Given the description of an element on the screen output the (x, y) to click on. 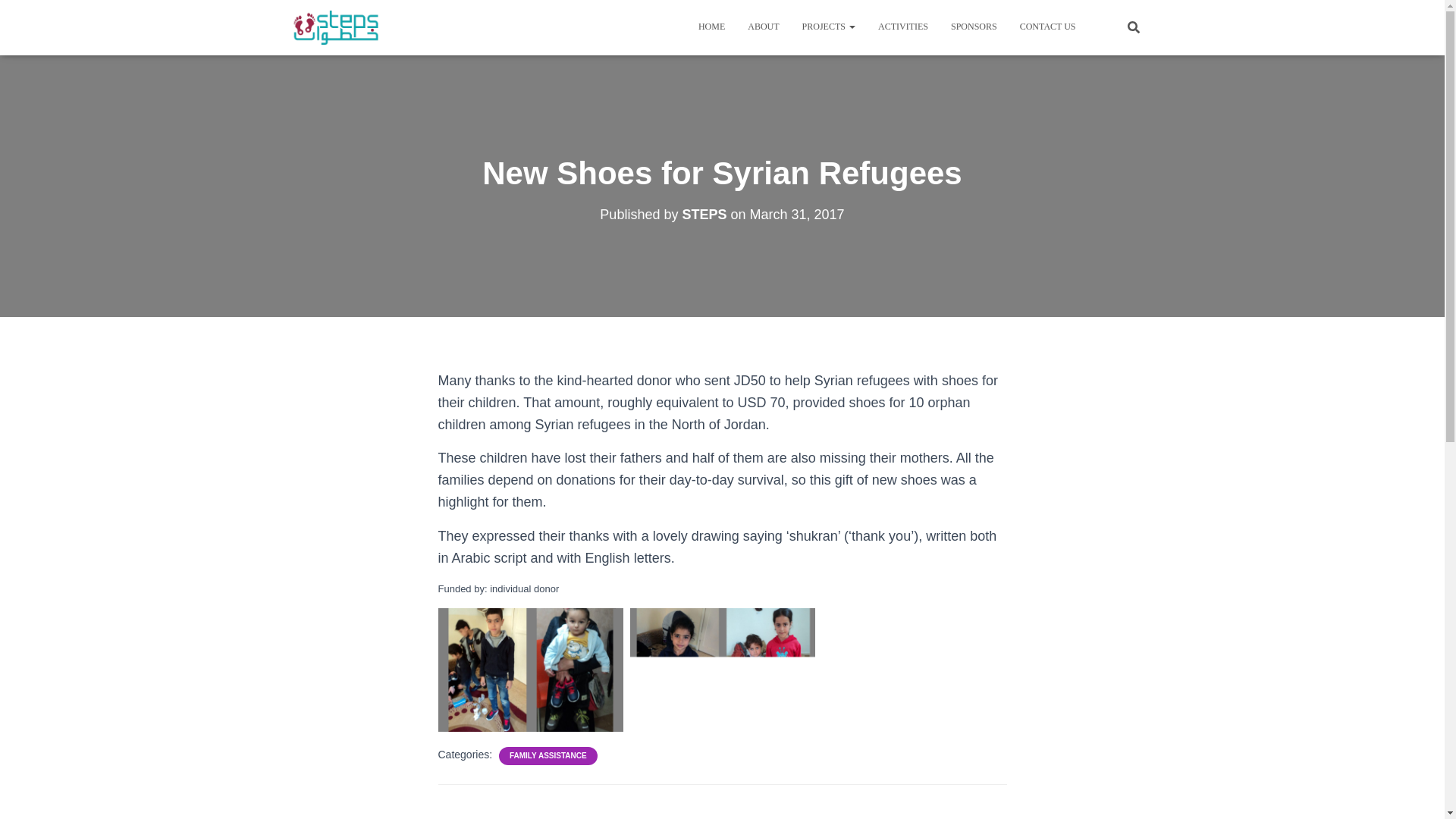
Home (711, 26)
Sponsors (974, 26)
PROJECTS (828, 26)
Projects (828, 26)
Search (16, 16)
Contact Us (1048, 26)
STEPS (703, 214)
About (763, 26)
HOME (711, 26)
CONTACT US (1048, 26)
Activities (902, 26)
SPONSORS (974, 26)
FAMILY ASSISTANCE (548, 756)
ACTIVITIES (902, 26)
ABOUT (763, 26)
